Given the description of an element on the screen output the (x, y) to click on. 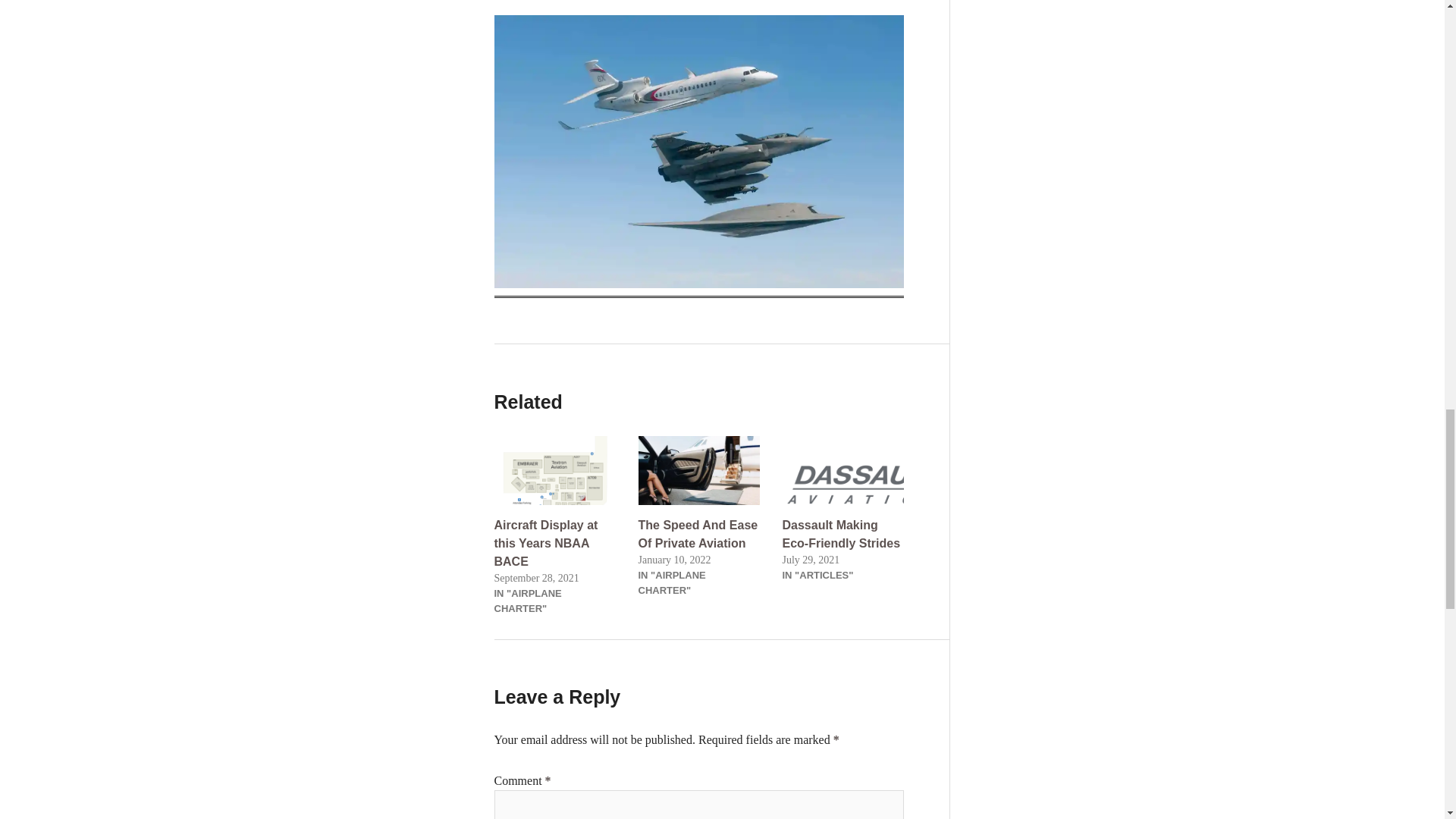
Aircraft Display at this Years NBAA BACE (555, 470)
Aircraft Display at this Years NBAA BACE (546, 543)
The Speed And Ease Of Private Aviation (698, 533)
The Speed And Ease Of Private Aviation (699, 470)
Dassault Making Eco-Friendly Strides (843, 470)
Dassault Making Eco-Friendly Strides (842, 533)
